Given the description of an element on the screen output the (x, y) to click on. 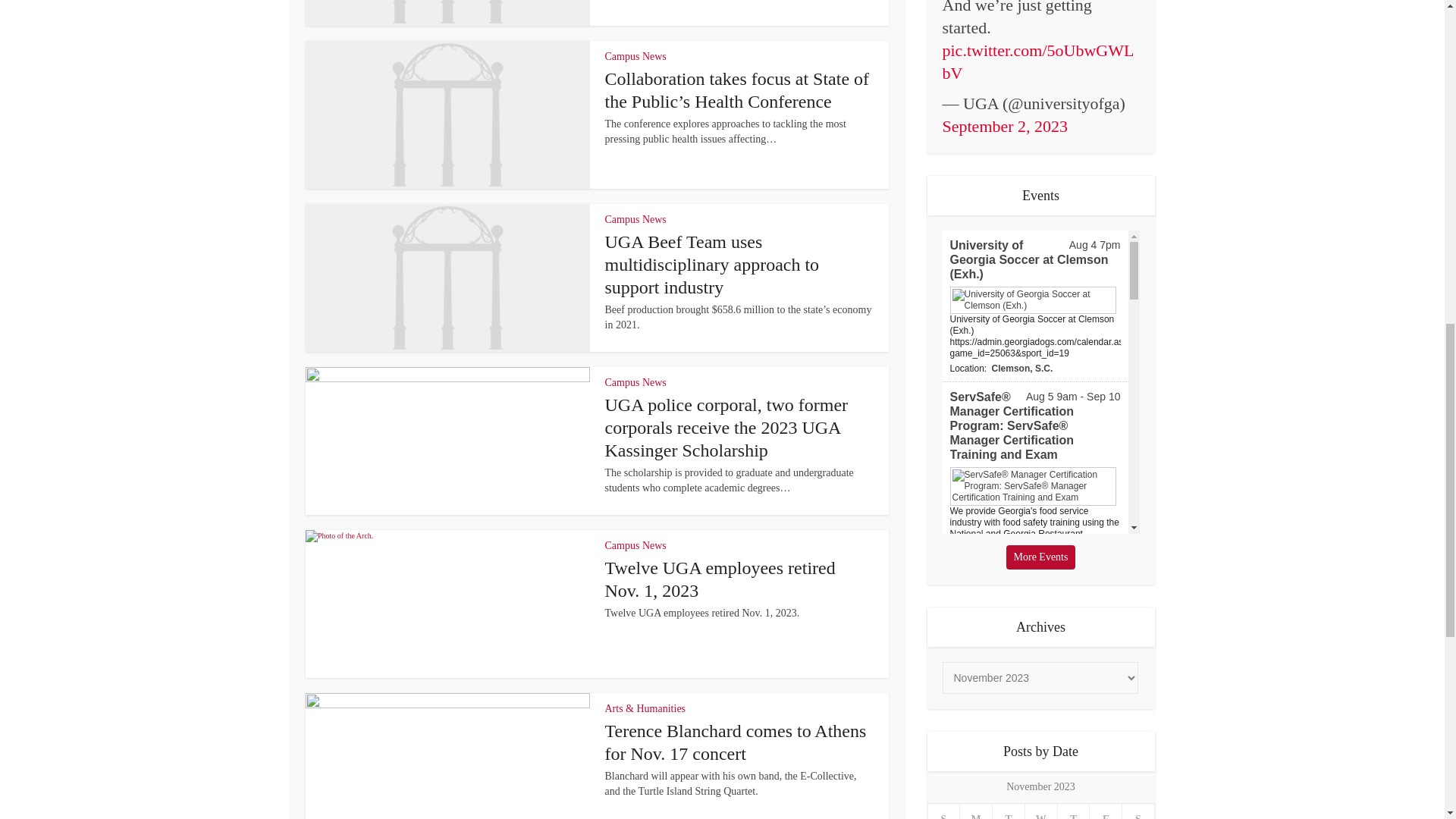
Twelve UGA employees retired Nov. 1, 2023 (720, 578)
Campus News (635, 56)
Twelve UGA employees retired Nov. 1, 2023 (720, 578)
Campus News (635, 219)
Campus News (635, 545)
Terence Blanchard comes to Athens for Nov. 17 concert (735, 742)
Campus News (635, 382)
